Given the description of an element on the screen output the (x, y) to click on. 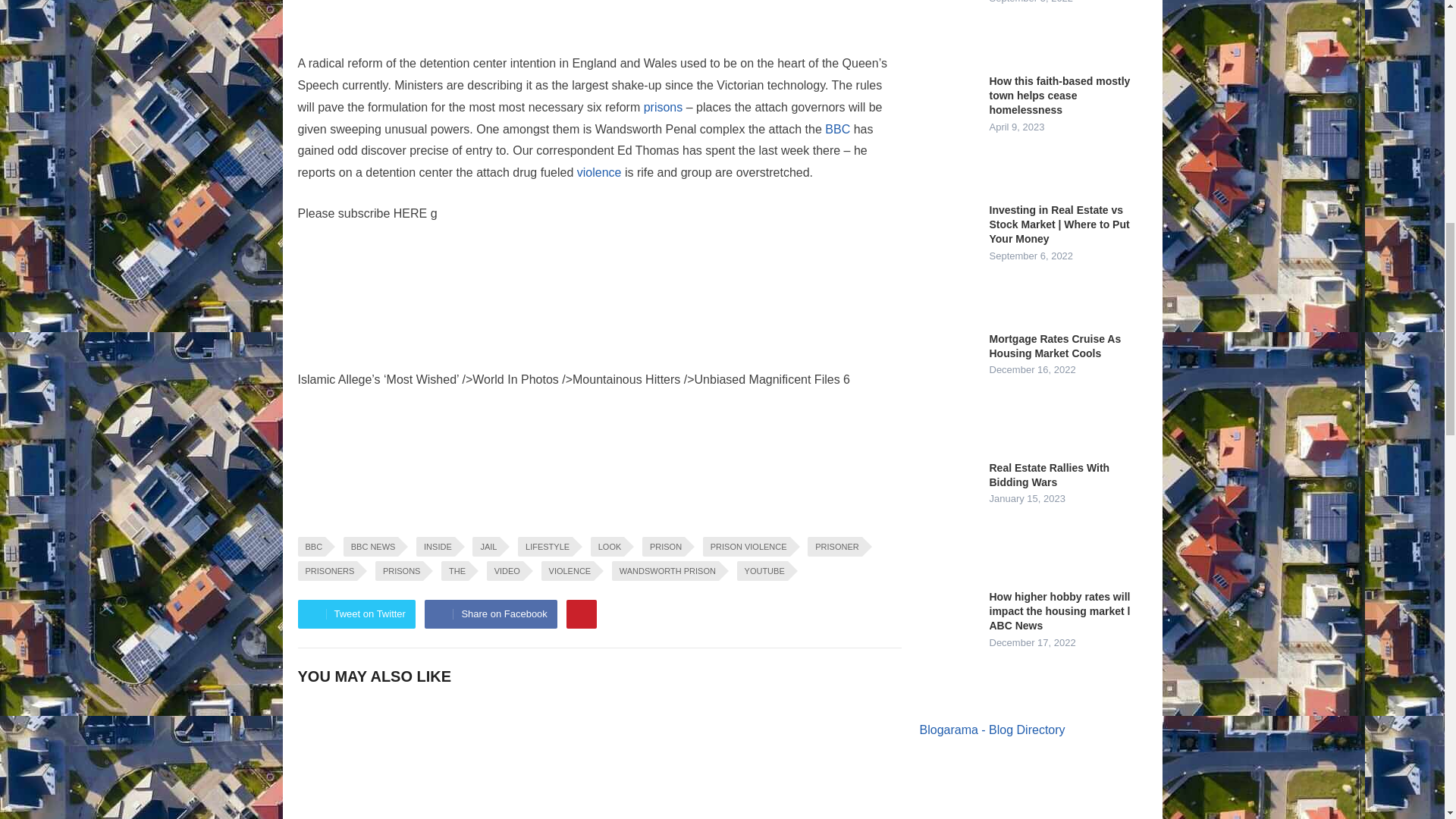
BBC (837, 128)
Posts tagged with violence (598, 172)
Posts tagged with prisons (662, 106)
prisons (662, 106)
BBC NEWS (370, 546)
Posts tagged with bbc (837, 128)
violence (598, 172)
Blogarama.com - Follow me on Blogarama (991, 729)
BBC (310, 546)
INSIDE (435, 546)
